Given the description of an element on the screen output the (x, y) to click on. 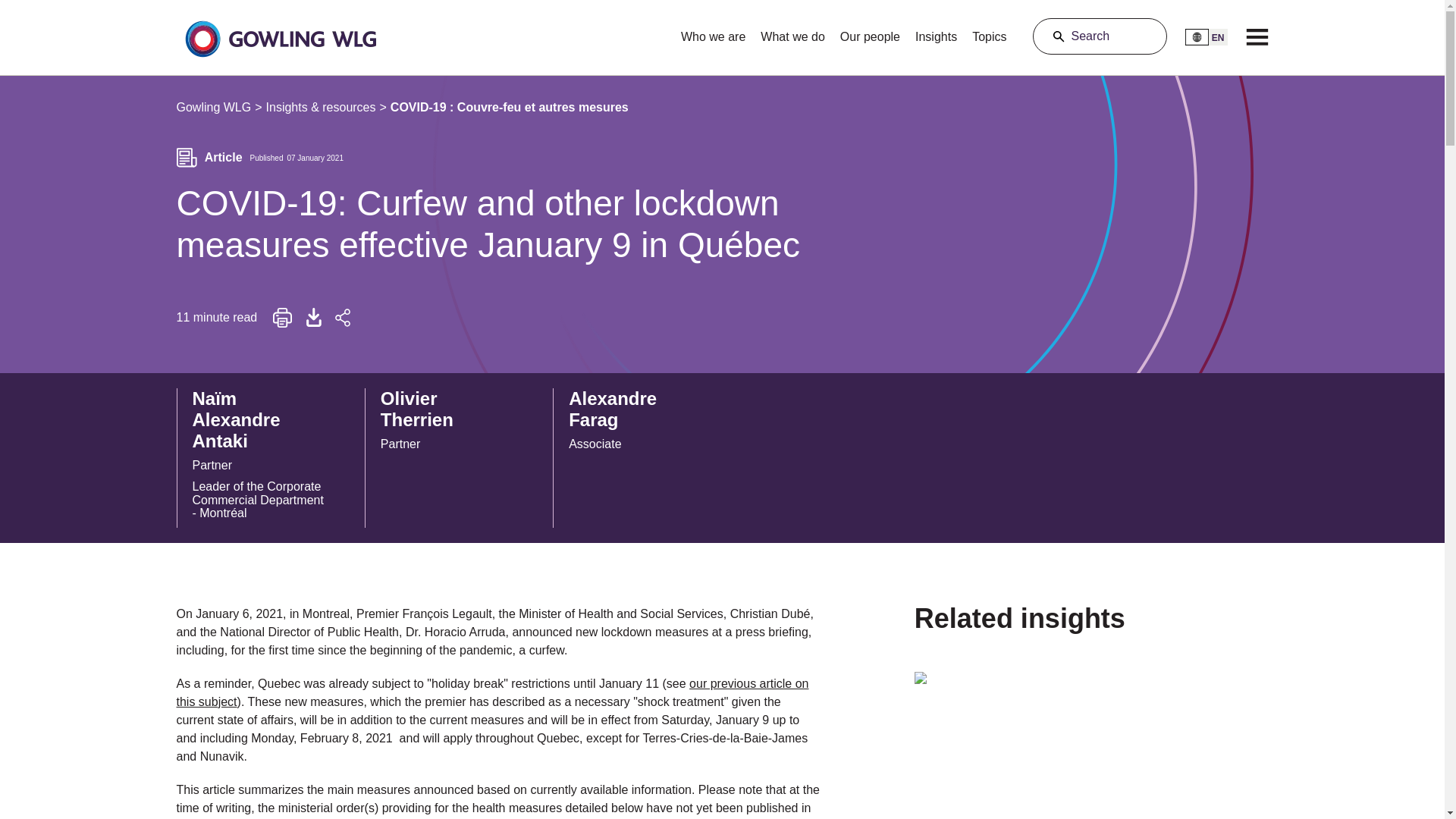
EN (1206, 36)
Print (440, 423)
Topics (282, 317)
Insights (988, 31)
Gowling WLG (935, 31)
Our people (213, 107)
Search (869, 31)
our previous article on this subject (1099, 36)
